Given the description of an element on the screen output the (x, y) to click on. 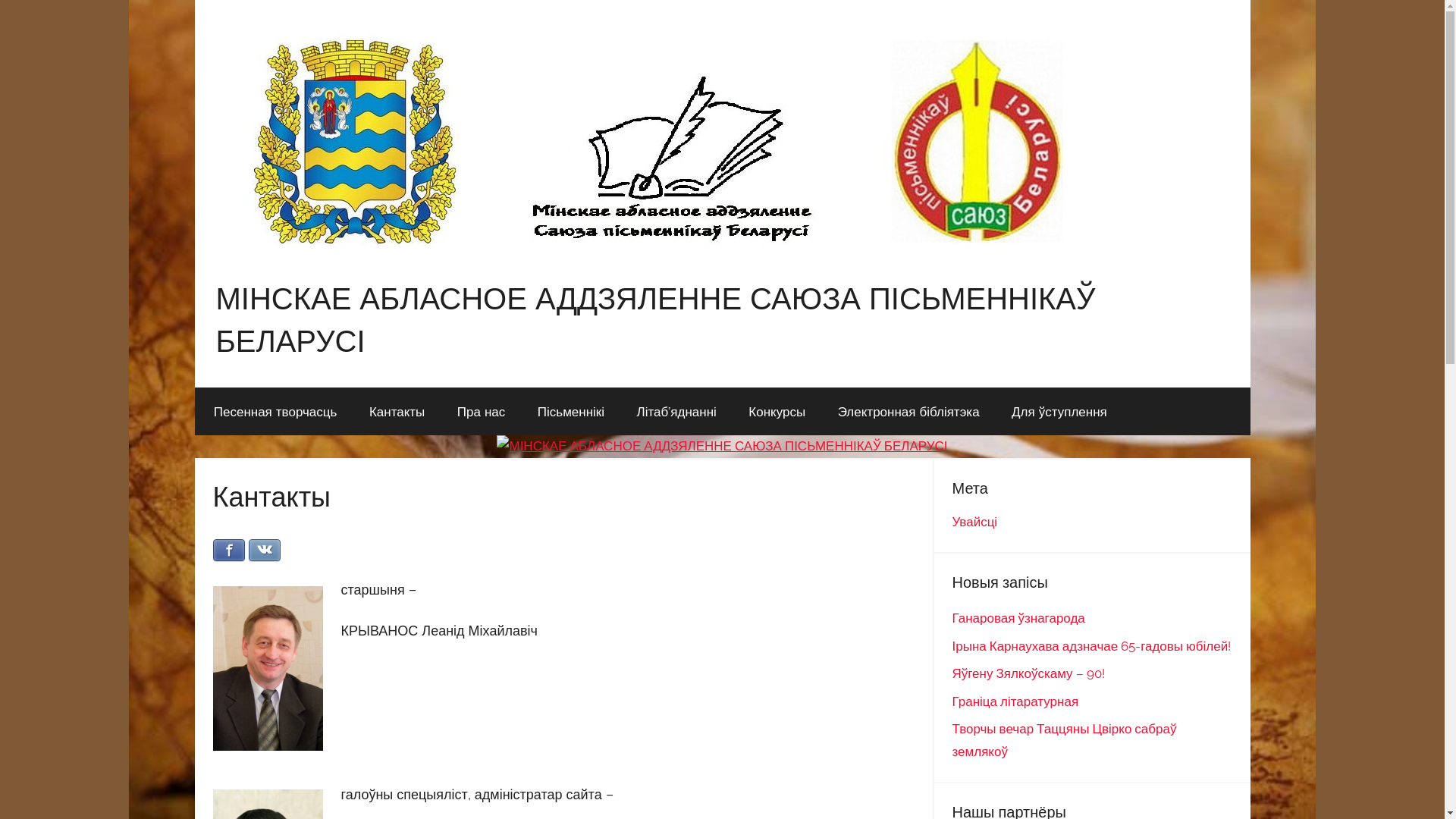
Skip to content Element type: text (194, 0)
Share this article on Facebook Element type: hover (228, 550)
Share this article on VKontakte Element type: hover (264, 550)
